Given the description of an element on the screen output the (x, y) to click on. 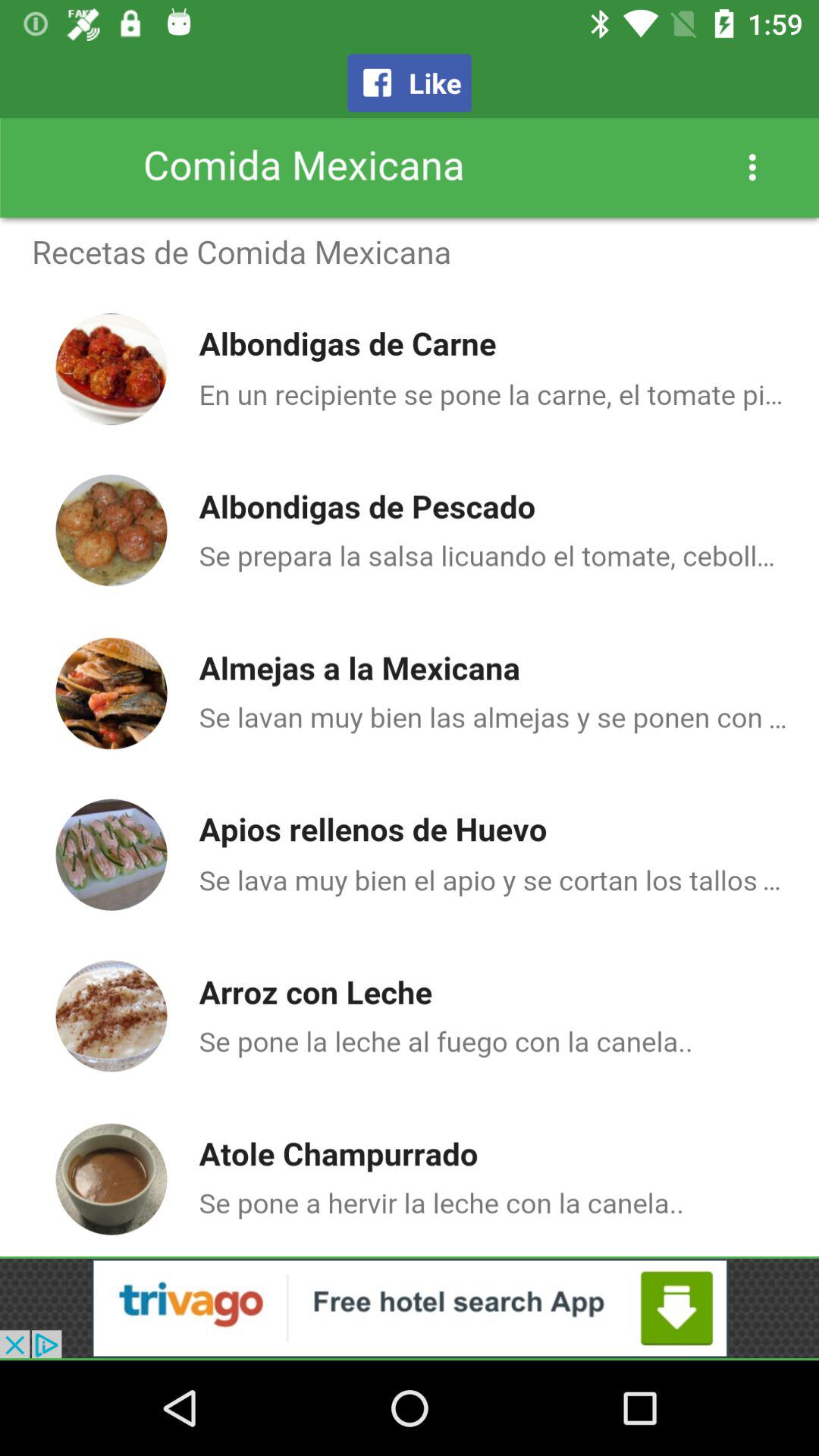
advertisement (409, 1308)
